Given the description of an element on the screen output the (x, y) to click on. 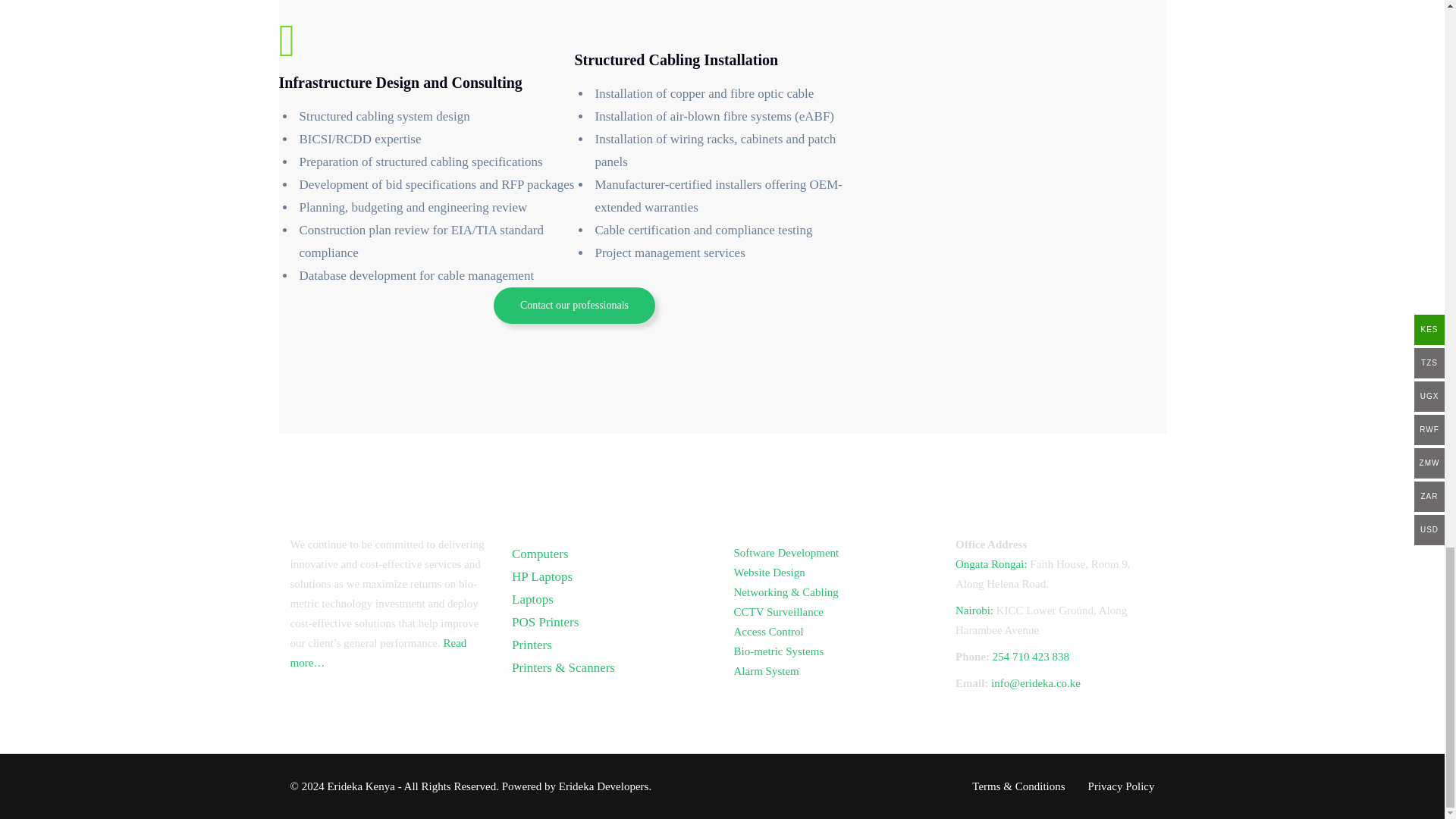
Printers (531, 644)
Website Design (769, 572)
Computers (540, 554)
Software Development (786, 552)
POS Printers (545, 622)
Contact Us (574, 305)
HP Laptops (542, 576)
Contact our professionals (574, 305)
Laptops (532, 599)
